Given the description of an element on the screen output the (x, y) to click on. 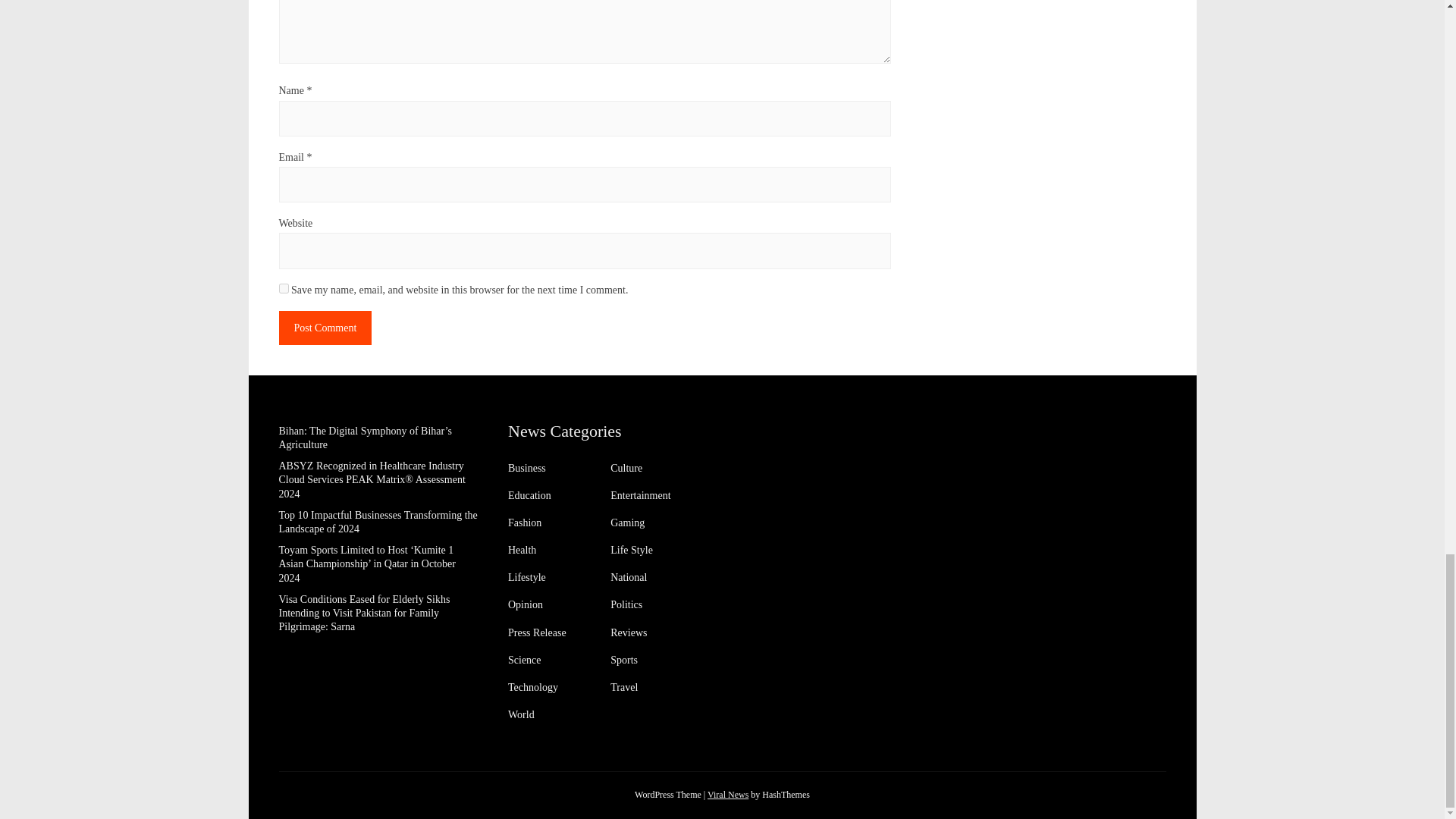
Post Comment (325, 327)
Post Comment (325, 327)
Download Viral News (727, 794)
yes (283, 288)
